Given the description of an element on the screen output the (x, y) to click on. 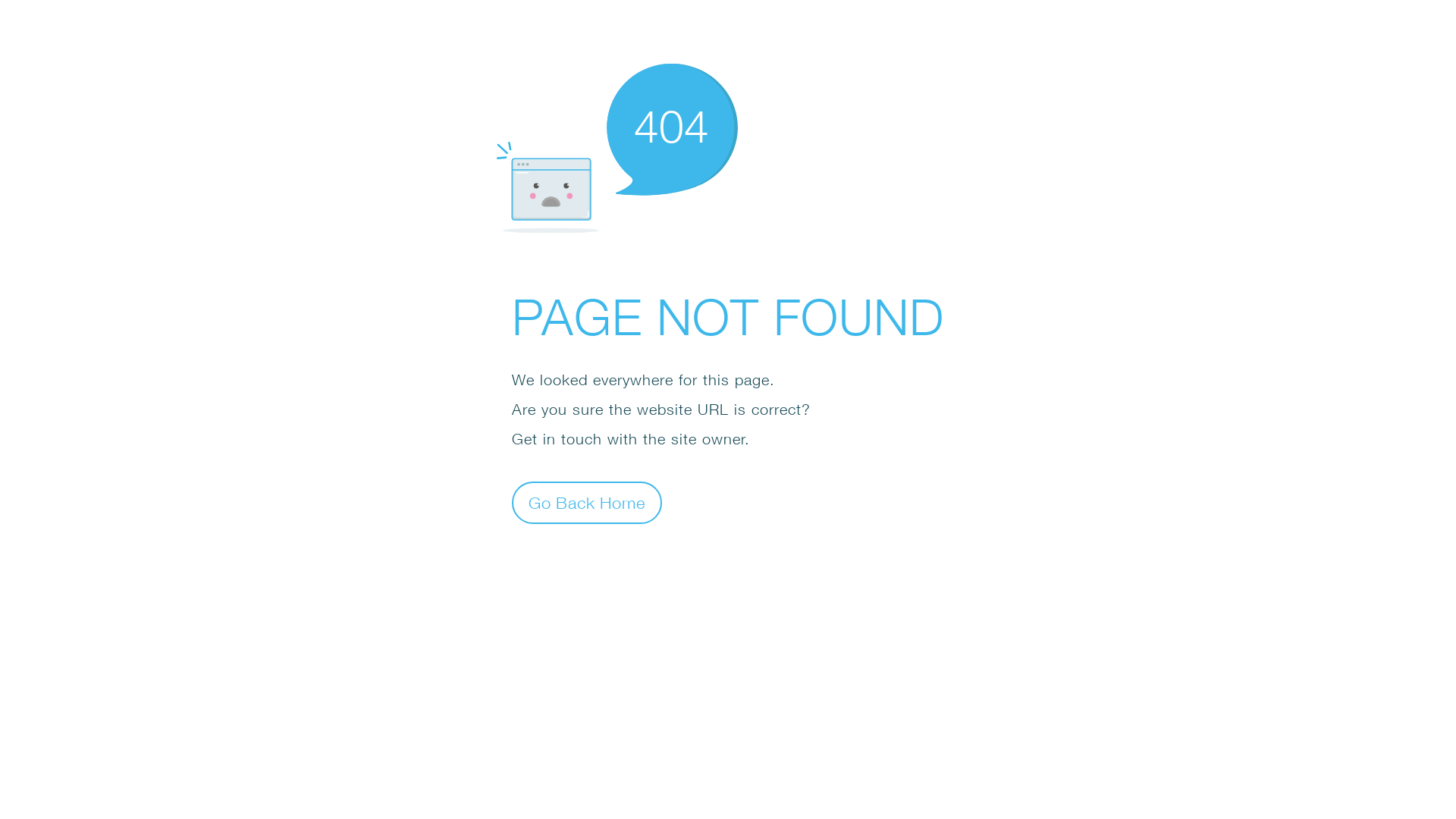
Go Back Home Element type: text (586, 502)
